Given the description of an element on the screen output the (x, y) to click on. 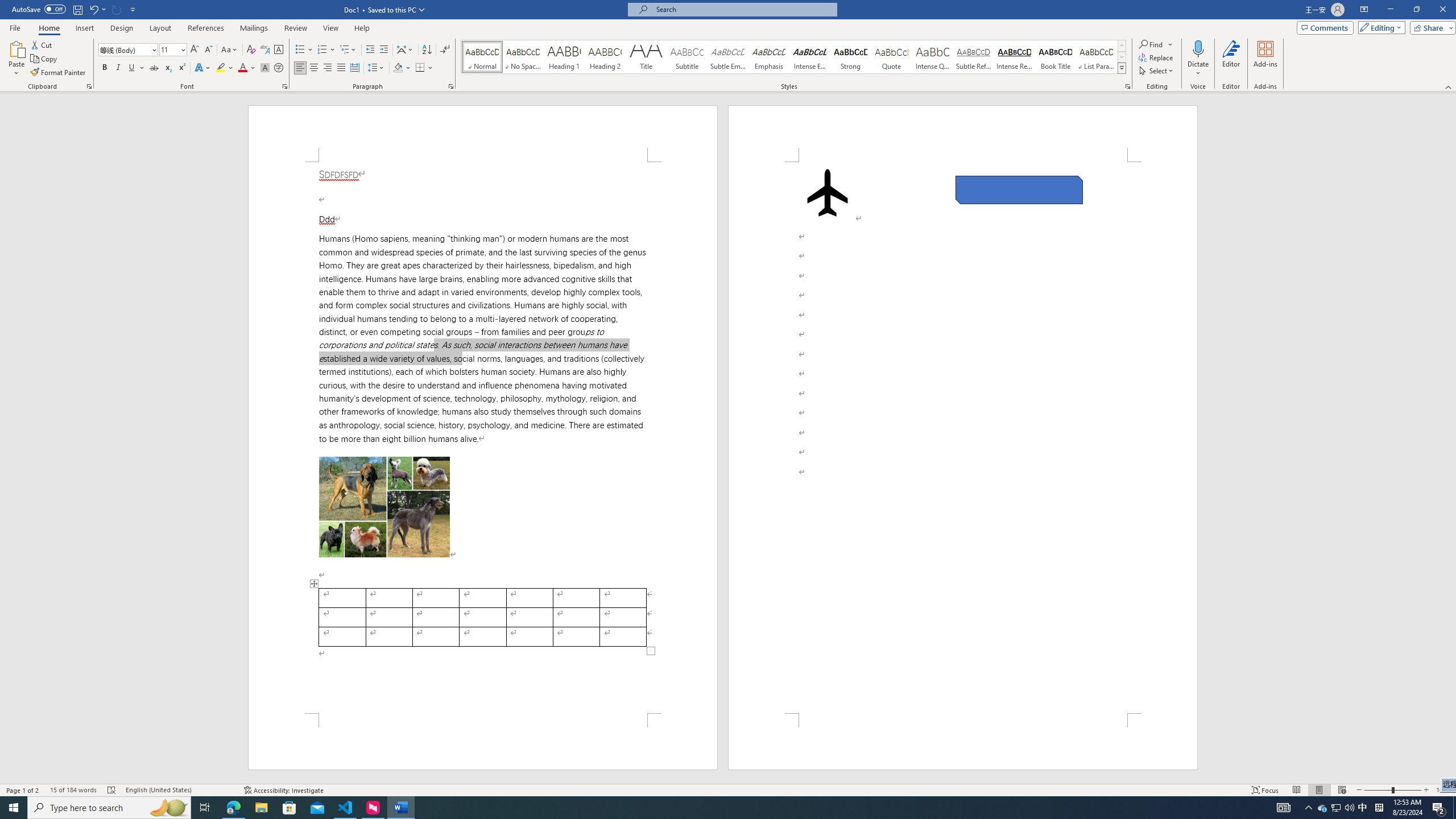
Styles... (1127, 85)
Intense Reference (1014, 56)
Shrink Font (208, 49)
Text Highlight Color (224, 67)
Character Shading (264, 67)
Word Count 15 of 184 words (73, 790)
Spelling and Grammar Check Errors (111, 790)
